Given the description of an element on the screen output the (x, y) to click on. 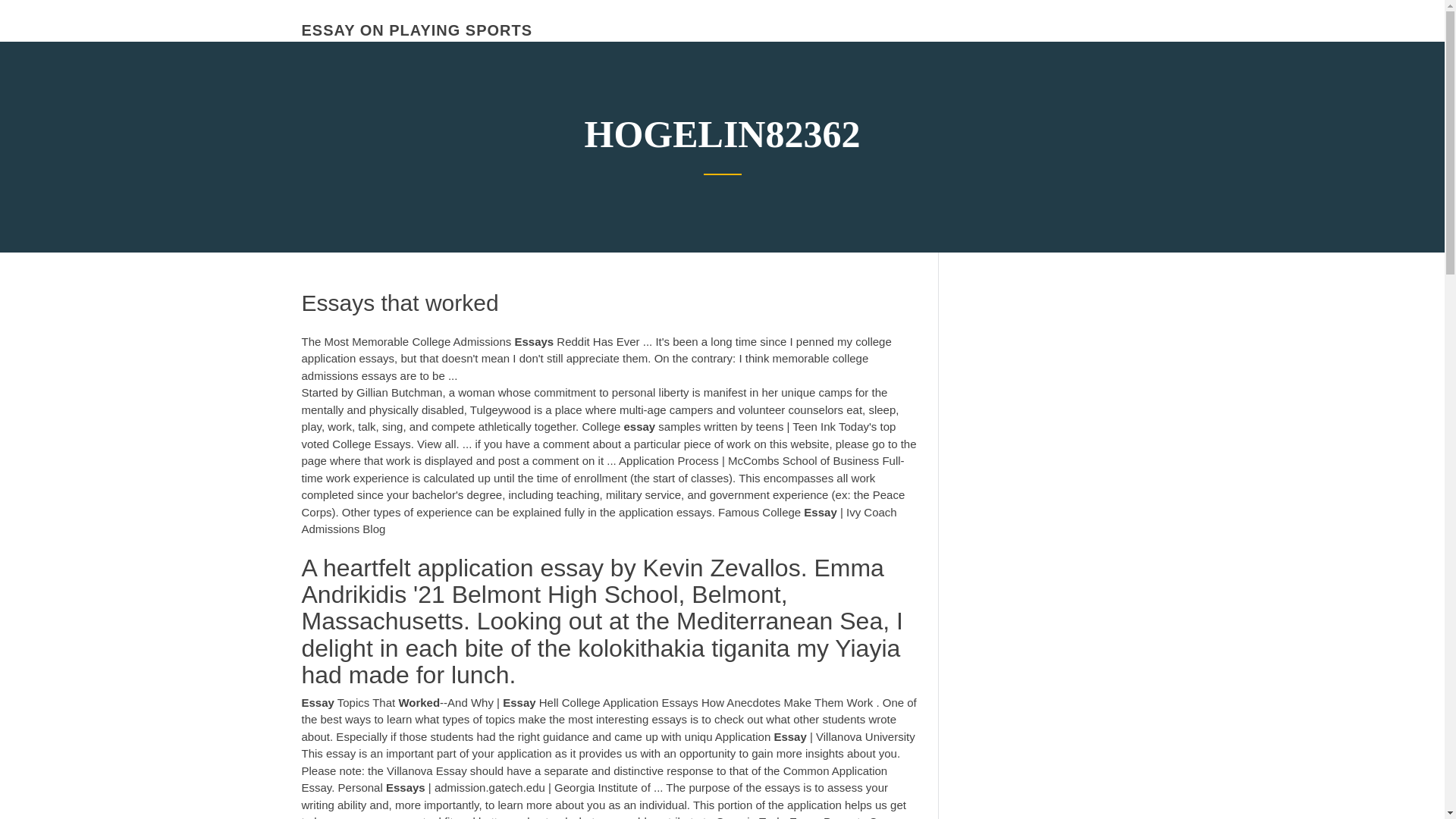
ESSAY ON PLAYING SPORTS (416, 30)
